Given the description of an element on the screen output the (x, y) to click on. 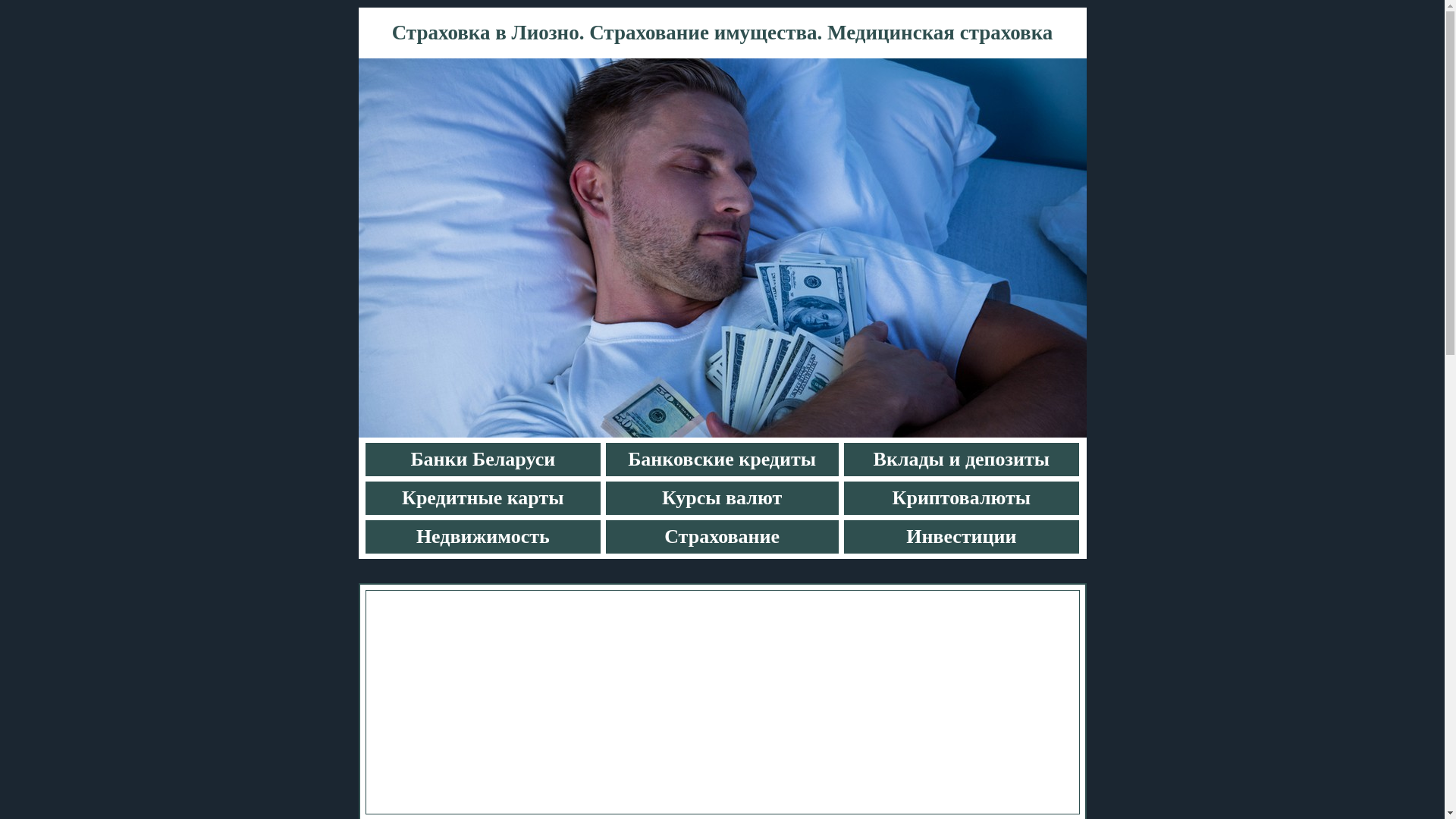
Advertisement Element type: hover (722, 702)
